Given the description of an element on the screen output the (x, y) to click on. 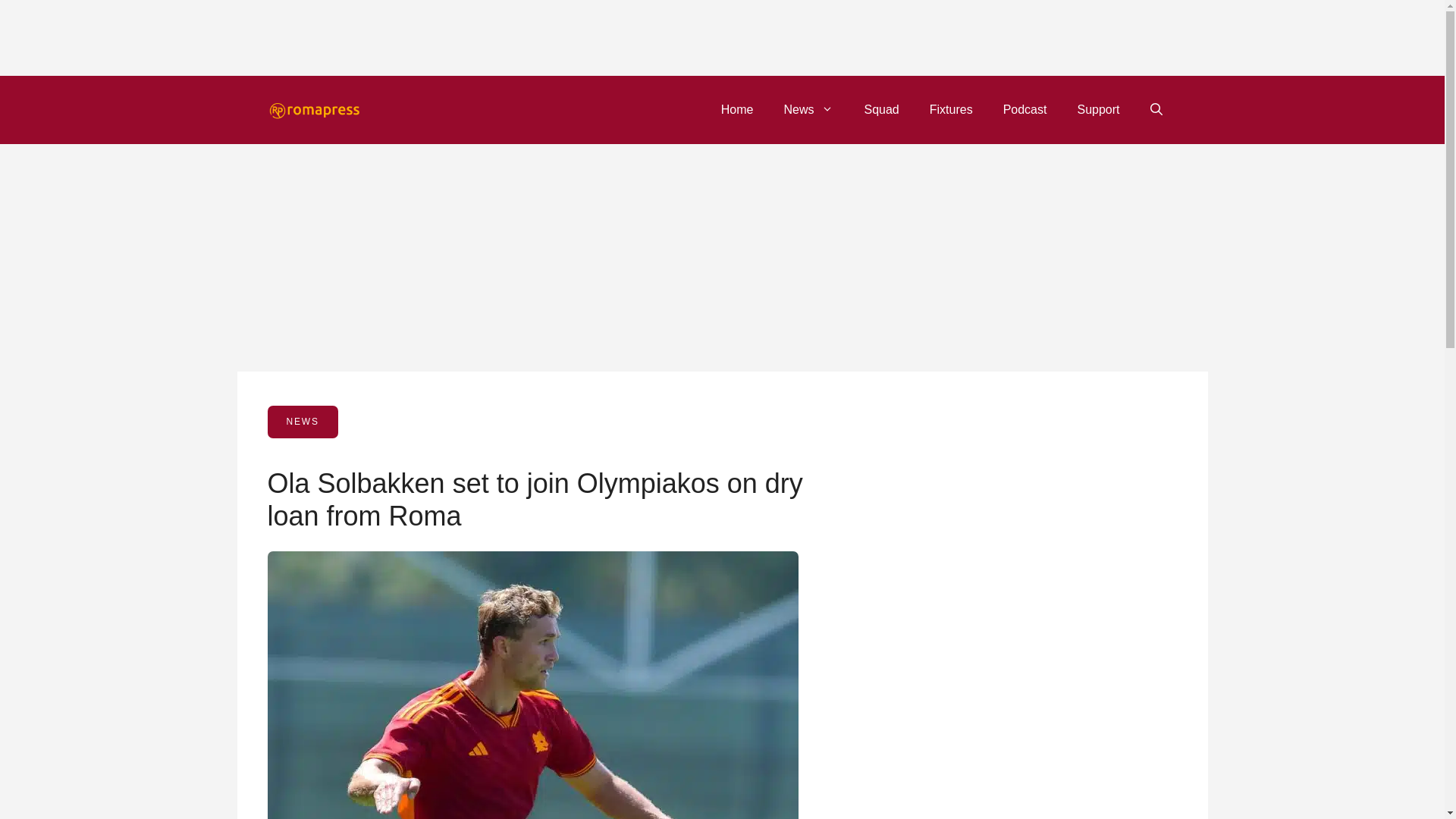
Support (1097, 109)
Podcast (1025, 109)
News (808, 109)
Home (737, 109)
Squad (881, 109)
Fixtures (951, 109)
